Given the description of an element on the screen output the (x, y) to click on. 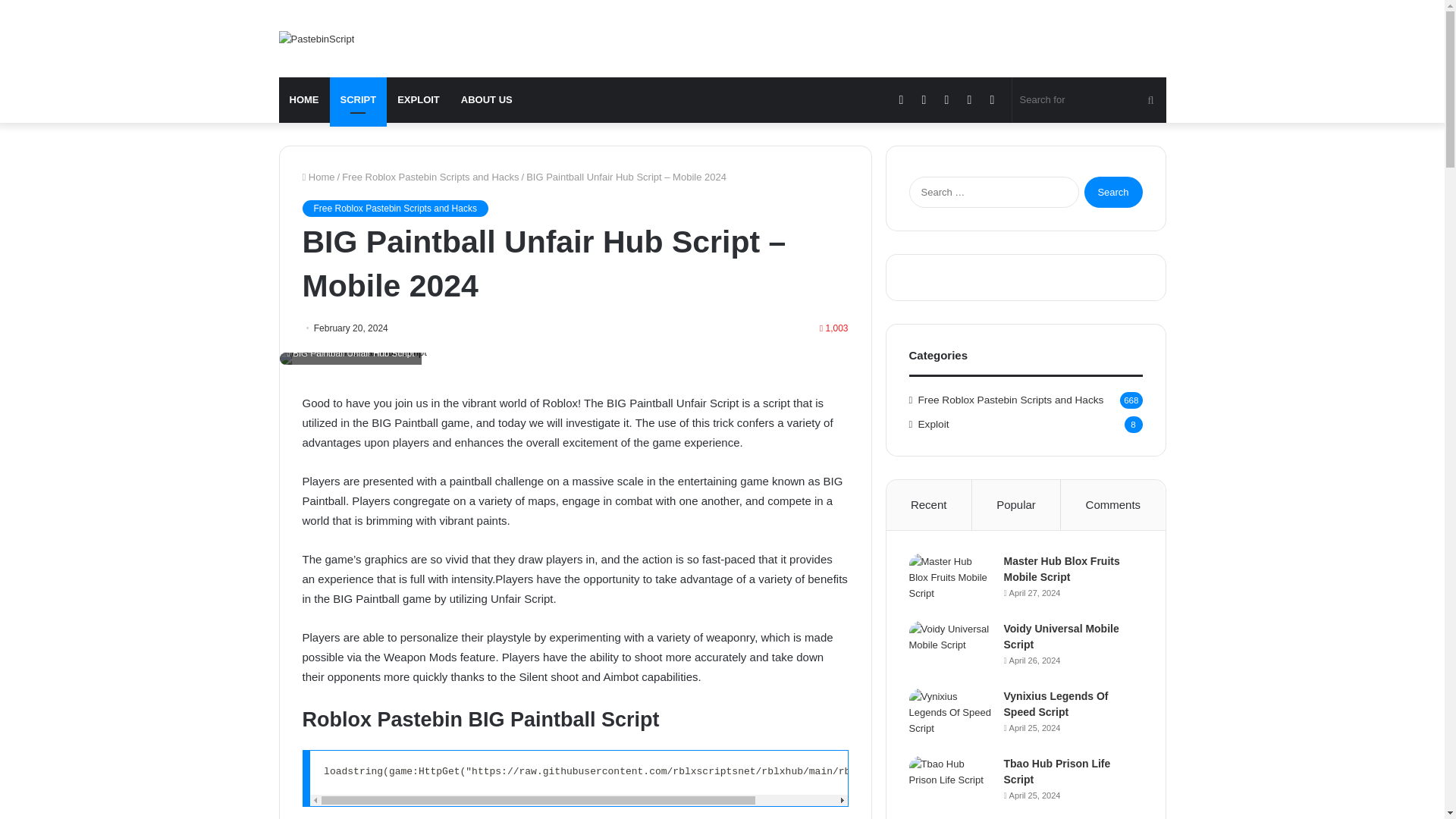
Search for (1150, 99)
ABOUT US (485, 99)
Facebook (900, 99)
Home (317, 176)
Free Roblox Pastebin Scripts and Hacks (430, 176)
Instagram (969, 99)
Twitter (924, 99)
Free Roblox Pastebin Scripts and Hacks (394, 208)
Search for (1088, 99)
PastebinScript (317, 38)
EXPLOIT (418, 99)
SCRIPT (358, 99)
Sidebar (992, 99)
Search (1113, 192)
HOME (304, 99)
